Given the description of an element on the screen output the (x, y) to click on. 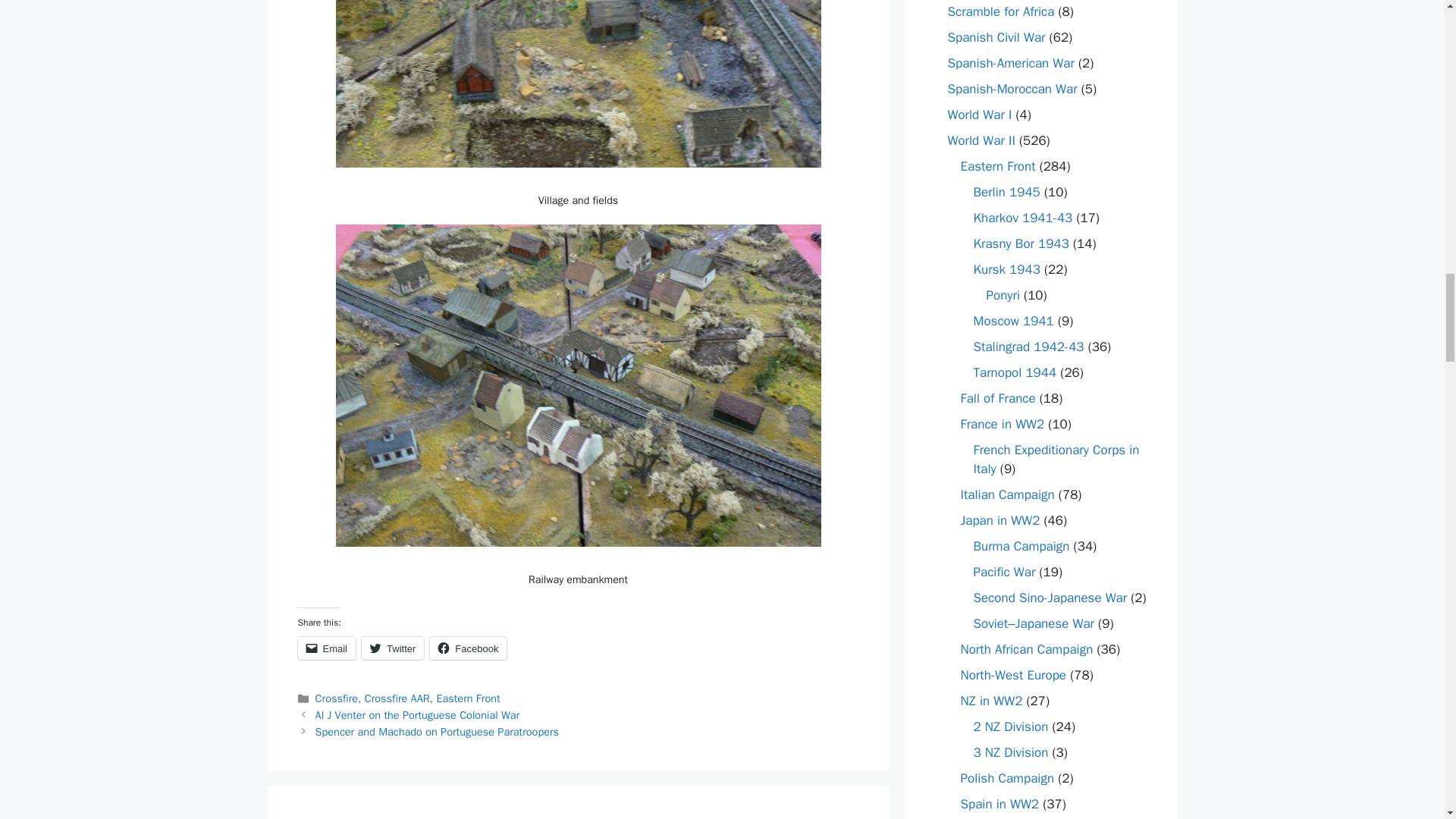
Facebook (467, 648)
Email (326, 648)
Eastern Front (467, 698)
Click to share on Twitter (392, 648)
Spencer and Machado on Portuguese Paratroopers (437, 731)
Click to email a link to a friend (326, 648)
Crossfire (336, 698)
Click to share on Facebook (467, 648)
Al J Venter on the Portuguese Colonial War (417, 714)
Crossfire AAR (397, 698)
Twitter (392, 648)
